Given the description of an element on the screen output the (x, y) to click on. 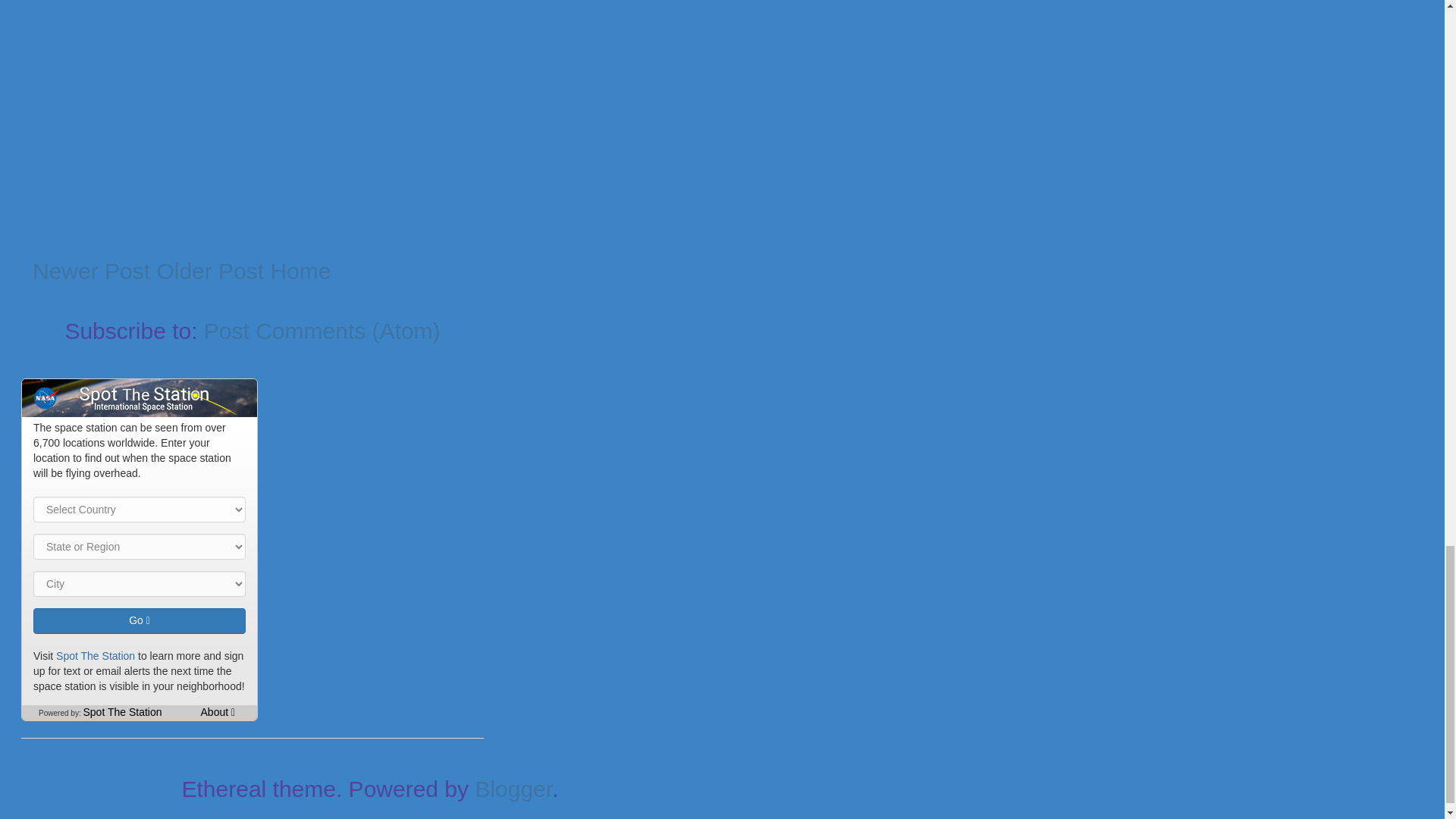
Newer Post (90, 270)
Blogger (512, 788)
Newer Post (90, 270)
Home (299, 270)
Older Post (209, 270)
Older Post (209, 270)
